Given the description of an element on the screen output the (x, y) to click on. 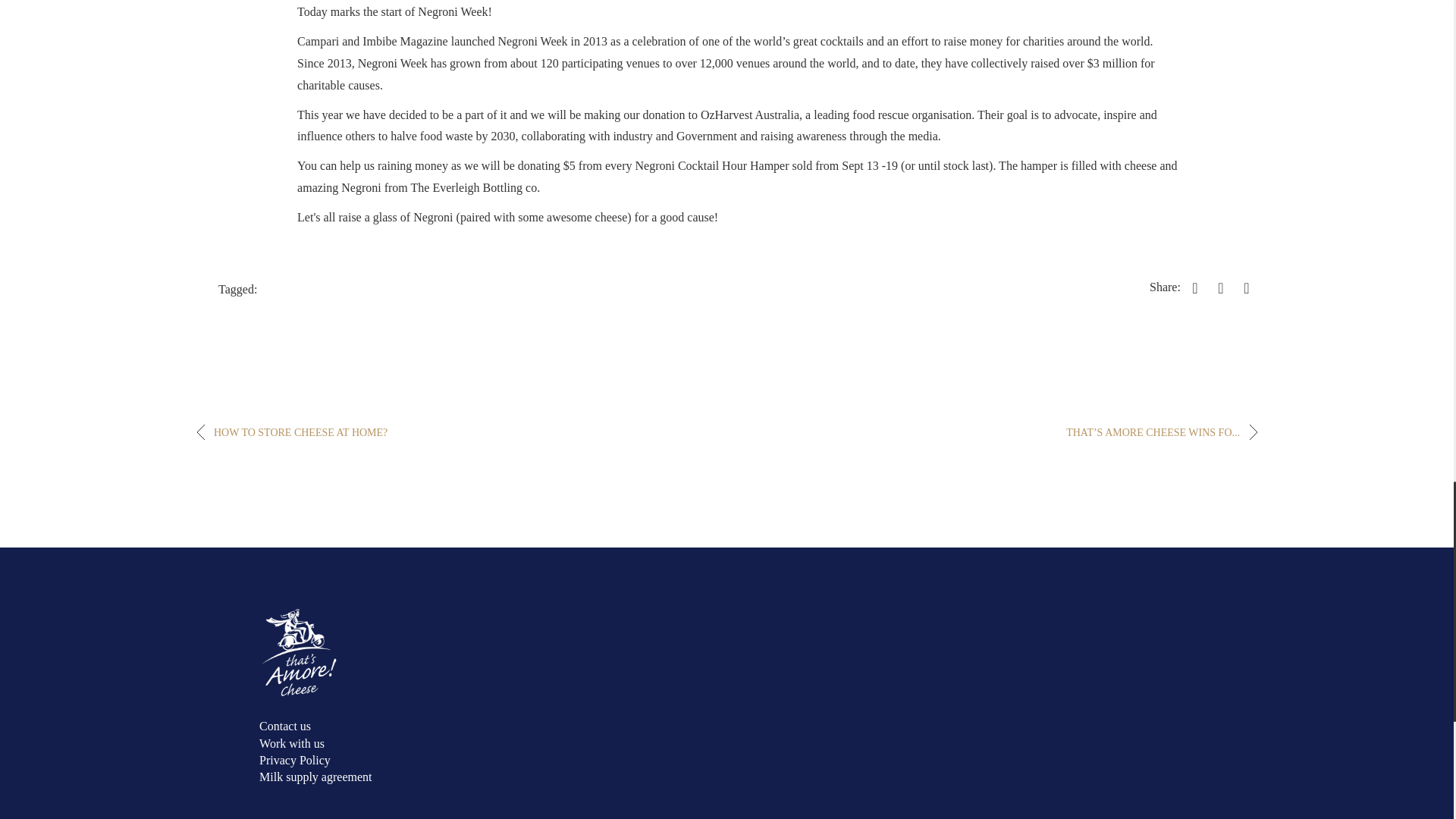
Share on Pinterest (1245, 287)
Share on Facebook (1195, 287)
OzHarverst Australia (749, 114)
Share on Twitter (1220, 287)
Campari Negroni Week (318, 41)
Imbibe Magazine (404, 41)
Negroni Week (452, 11)
Negroni cheese hamper melbourne (733, 164)
Negroni week cheese hamper Melbourne (473, 187)
